Given the description of an element on the screen output the (x, y) to click on. 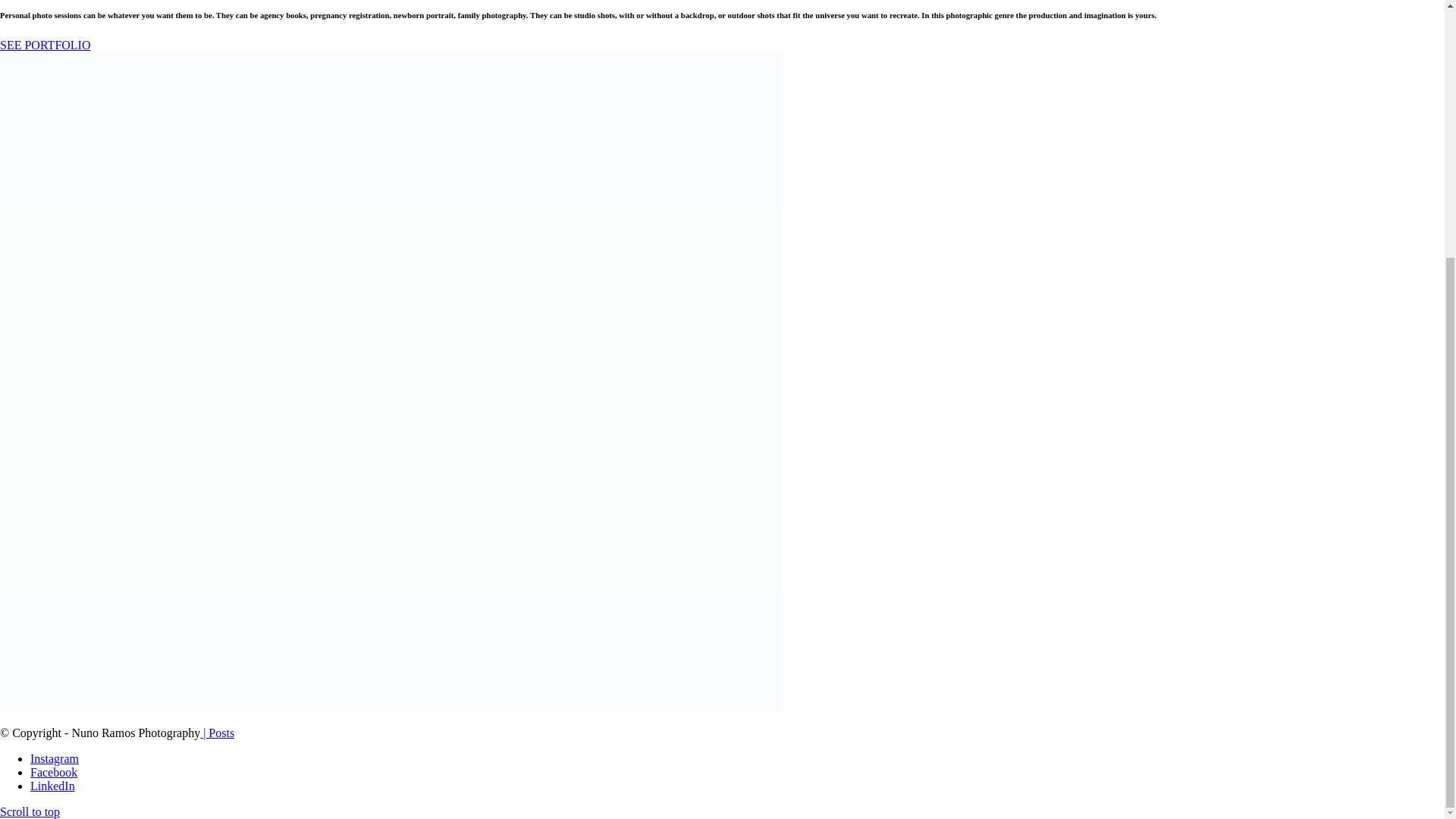
Scroll to top (29, 811)
LinkedIn (52, 785)
SEE PORTFOLIO (45, 44)
Instagram (54, 758)
Facebook (53, 771)
Scroll to top (29, 811)
LinkedIn (52, 785)
Facebook (53, 771)
Instagram (54, 758)
